Given the description of an element on the screen output the (x, y) to click on. 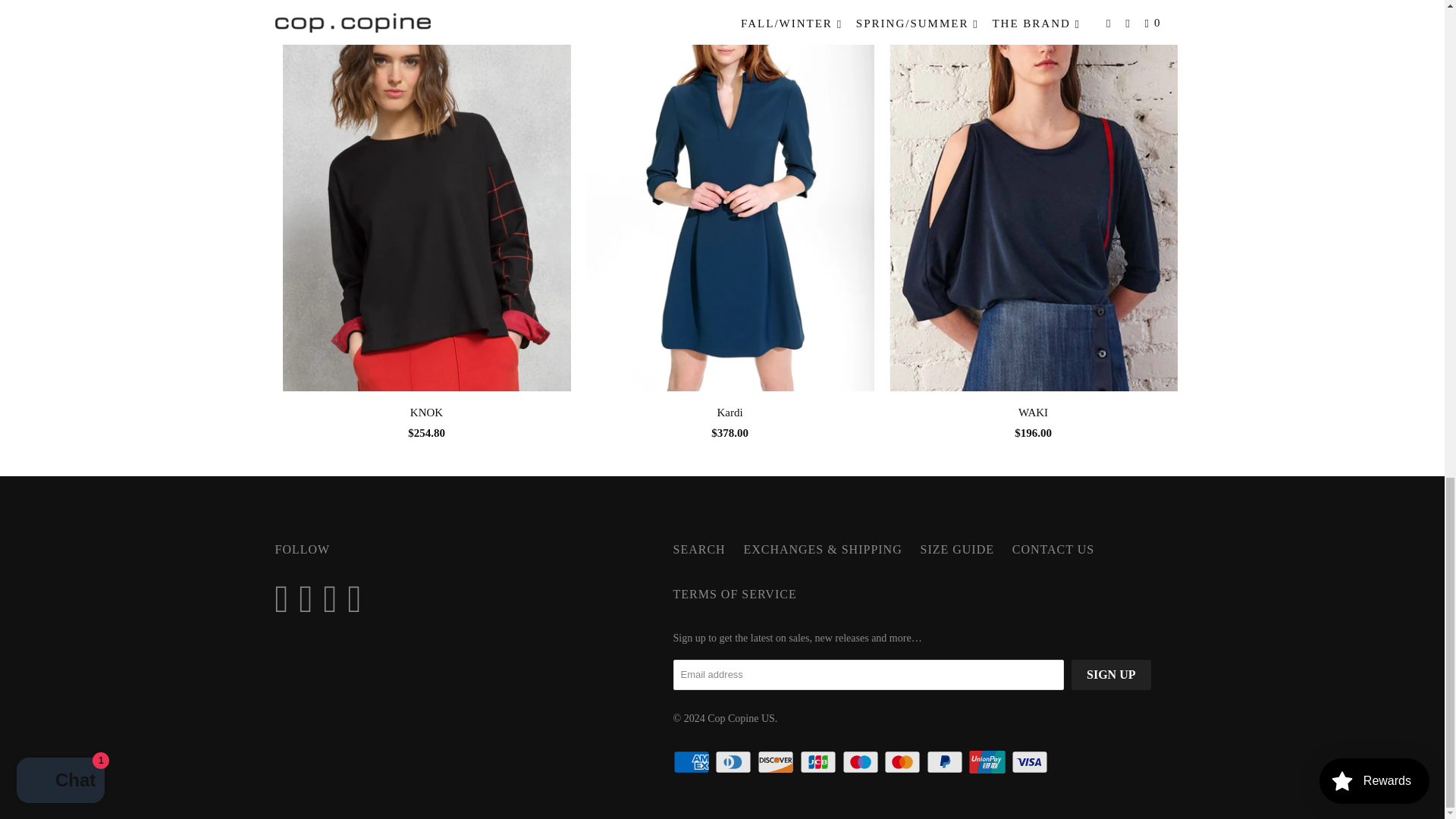
American Express (692, 762)
Union Pay (989, 762)
Maestro (860, 762)
Discover (776, 762)
Mastercard (903, 762)
PayPal (946, 762)
JCB (819, 762)
Diners Club (734, 762)
Sign Up (1110, 675)
Visa (1031, 762)
